Given the description of an element on the screen output the (x, y) to click on. 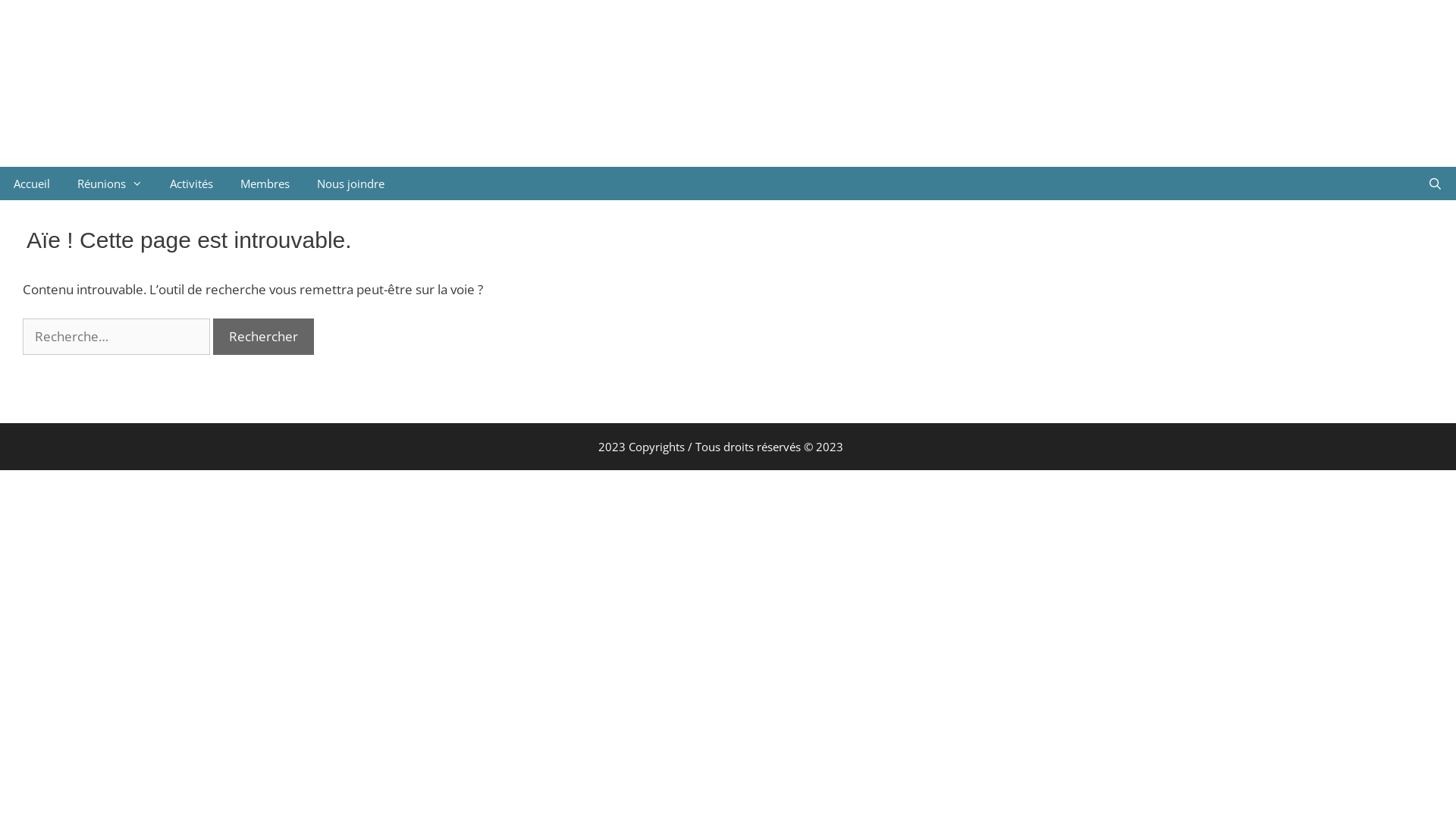
Rechercher Element type: text (263, 336)
Membres Element type: text (264, 183)
Accueil Element type: text (31, 183)
Nous joindre Element type: text (350, 183)
